Given the description of an element on the screen output the (x, y) to click on. 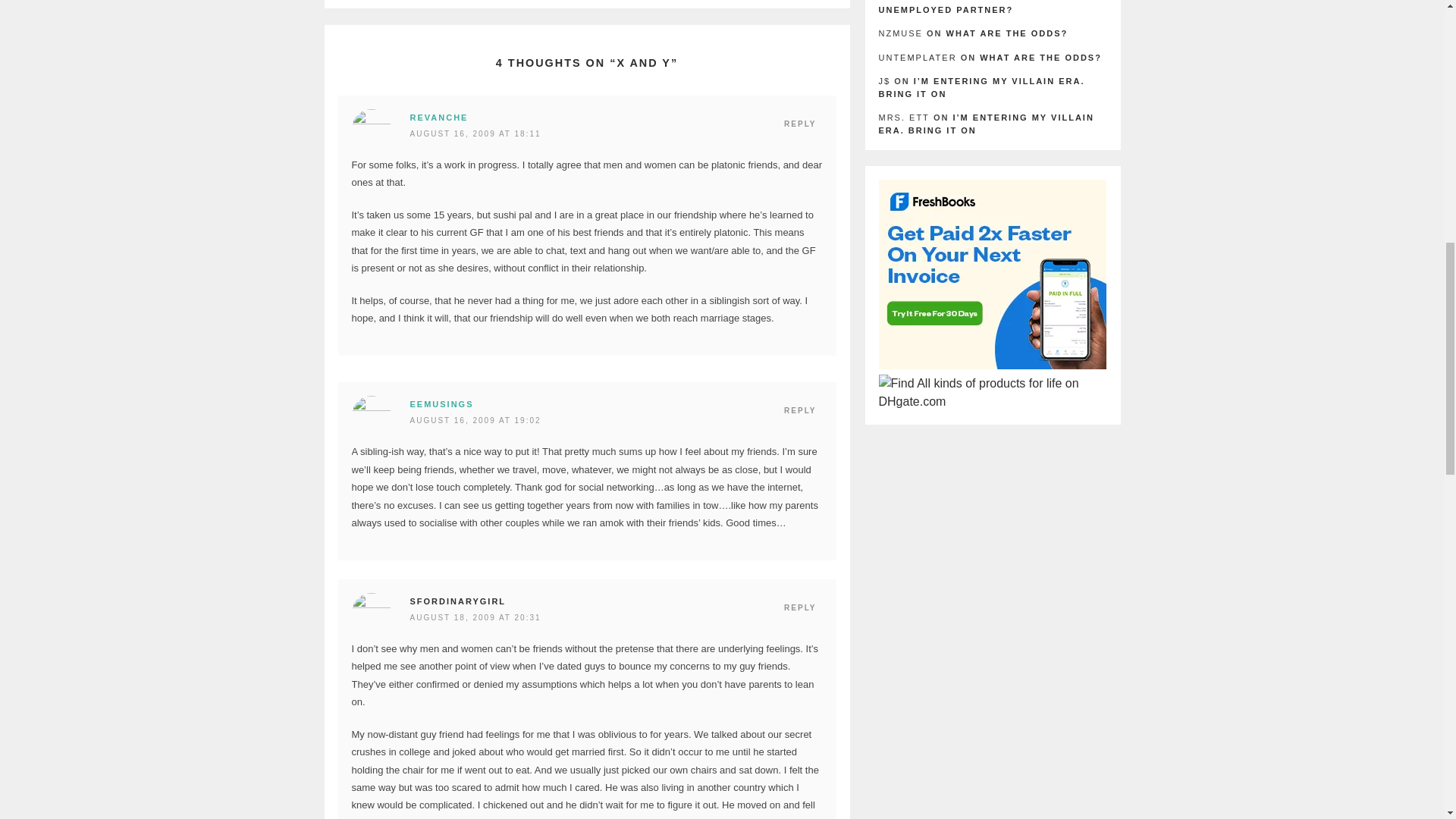
REPLY (799, 410)
REVANCHE (438, 117)
EEMUSINGS (441, 403)
REPLY (799, 608)
REPLY (799, 124)
